Given the description of an element on the screen output the (x, y) to click on. 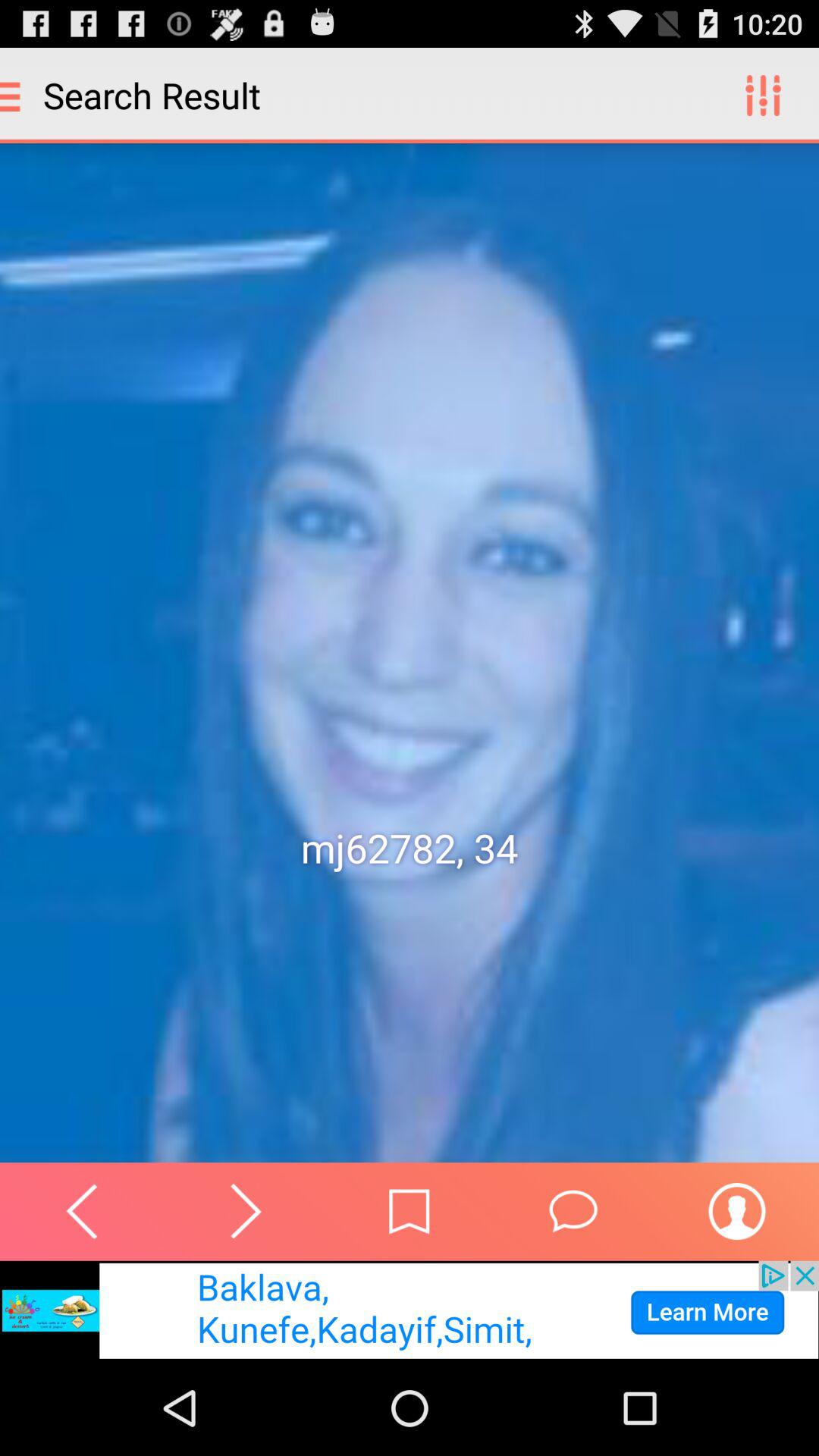
home button (409, 1211)
